Given the description of an element on the screen output the (x, y) to click on. 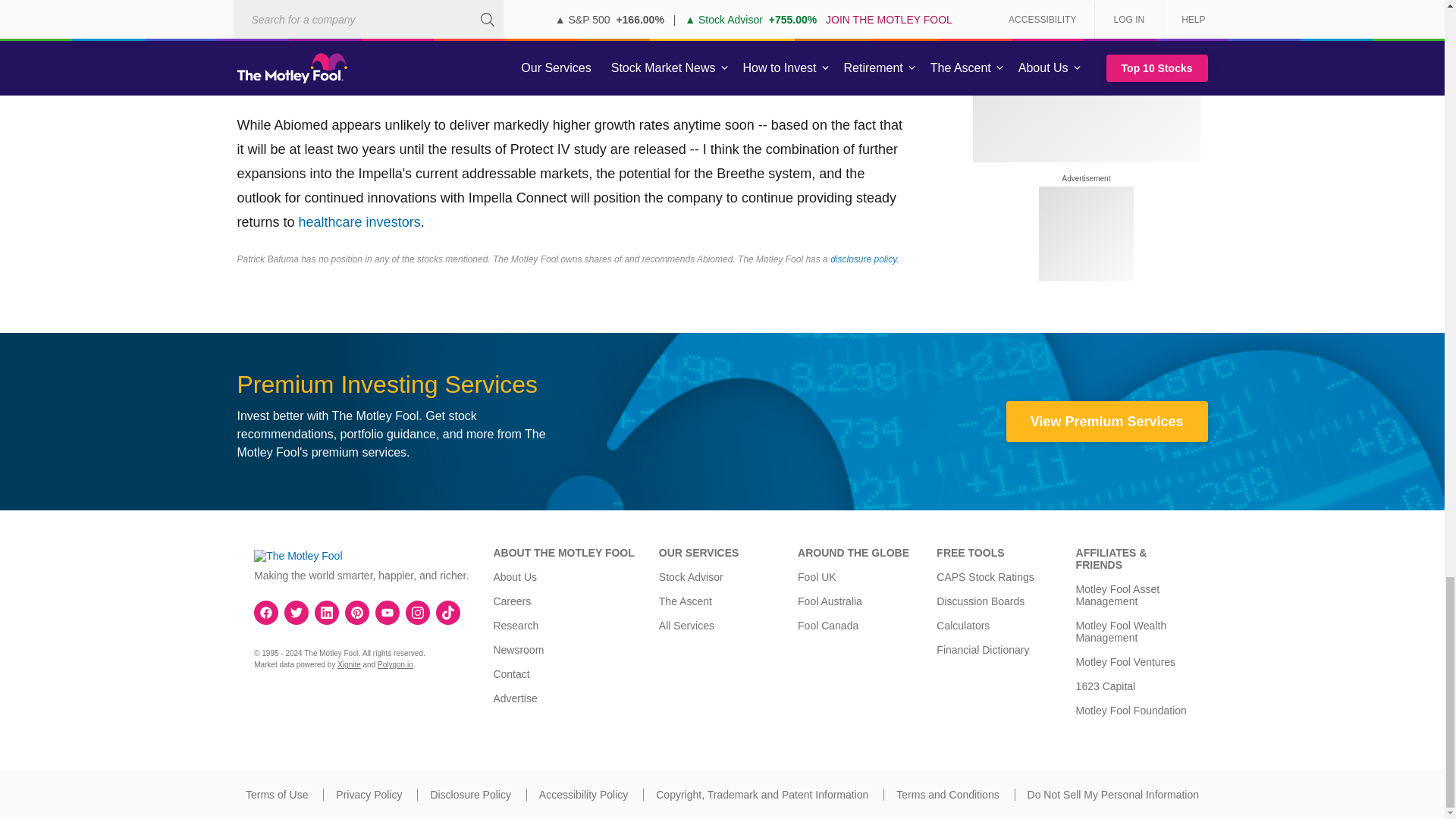
Terms of Use (276, 794)
Privacy Policy (368, 794)
Do Not Sell My Personal Information. (1112, 794)
Copyright, Trademark and Patent Information (761, 794)
Terms and Conditions (947, 794)
Accessibility Policy (582, 794)
Disclosure Policy (470, 794)
